Given the description of an element on the screen output the (x, y) to click on. 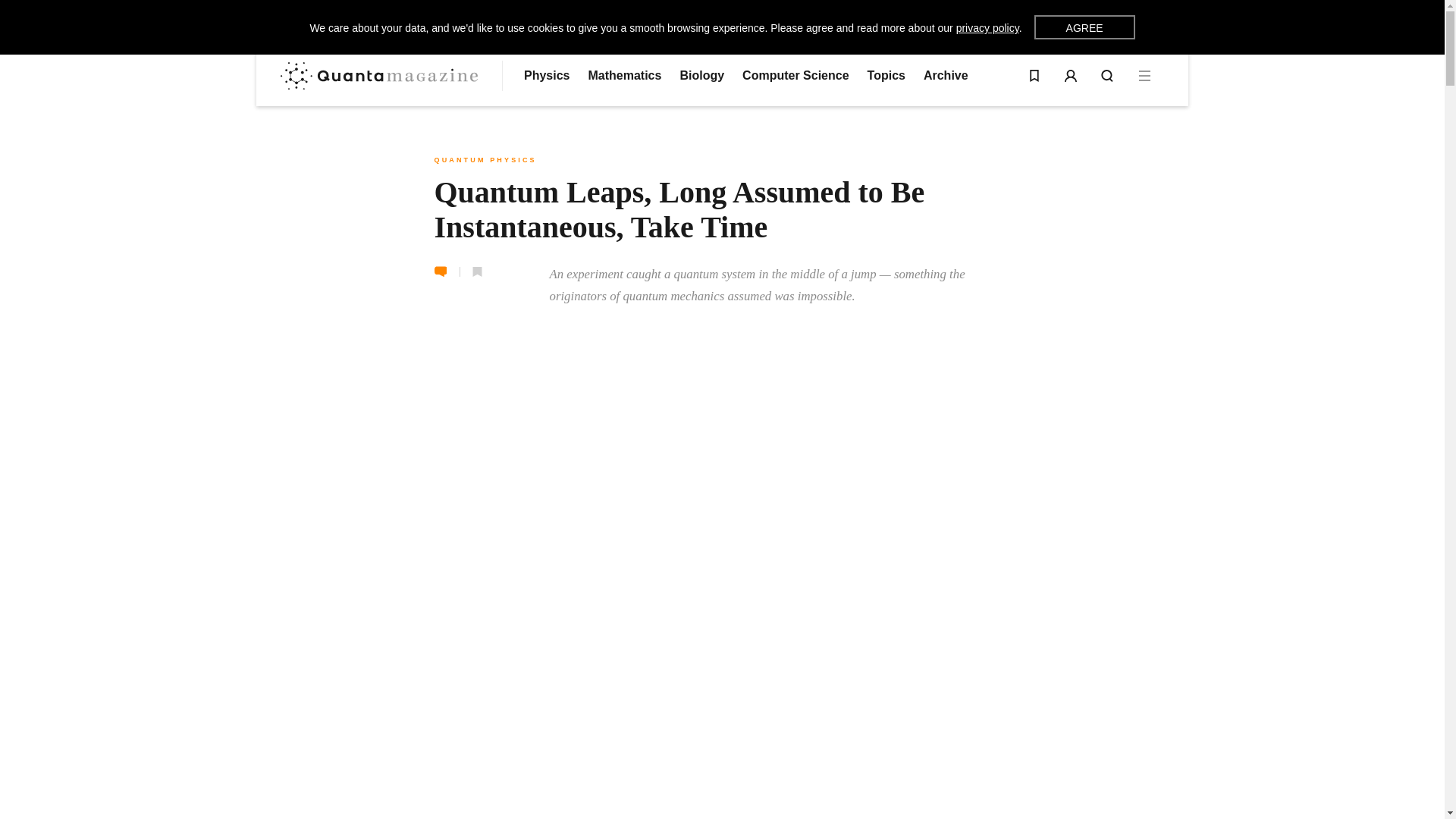
privacy policy (987, 28)
QUANTUM PHYSICS (484, 159)
Computer Science (795, 75)
Search (1106, 75)
Saved articles (1034, 75)
Search (1106, 75)
Login (1070, 75)
Login (1070, 75)
Saved articles (1034, 75)
AGREE (1084, 27)
